Given the description of an element on the screen output the (x, y) to click on. 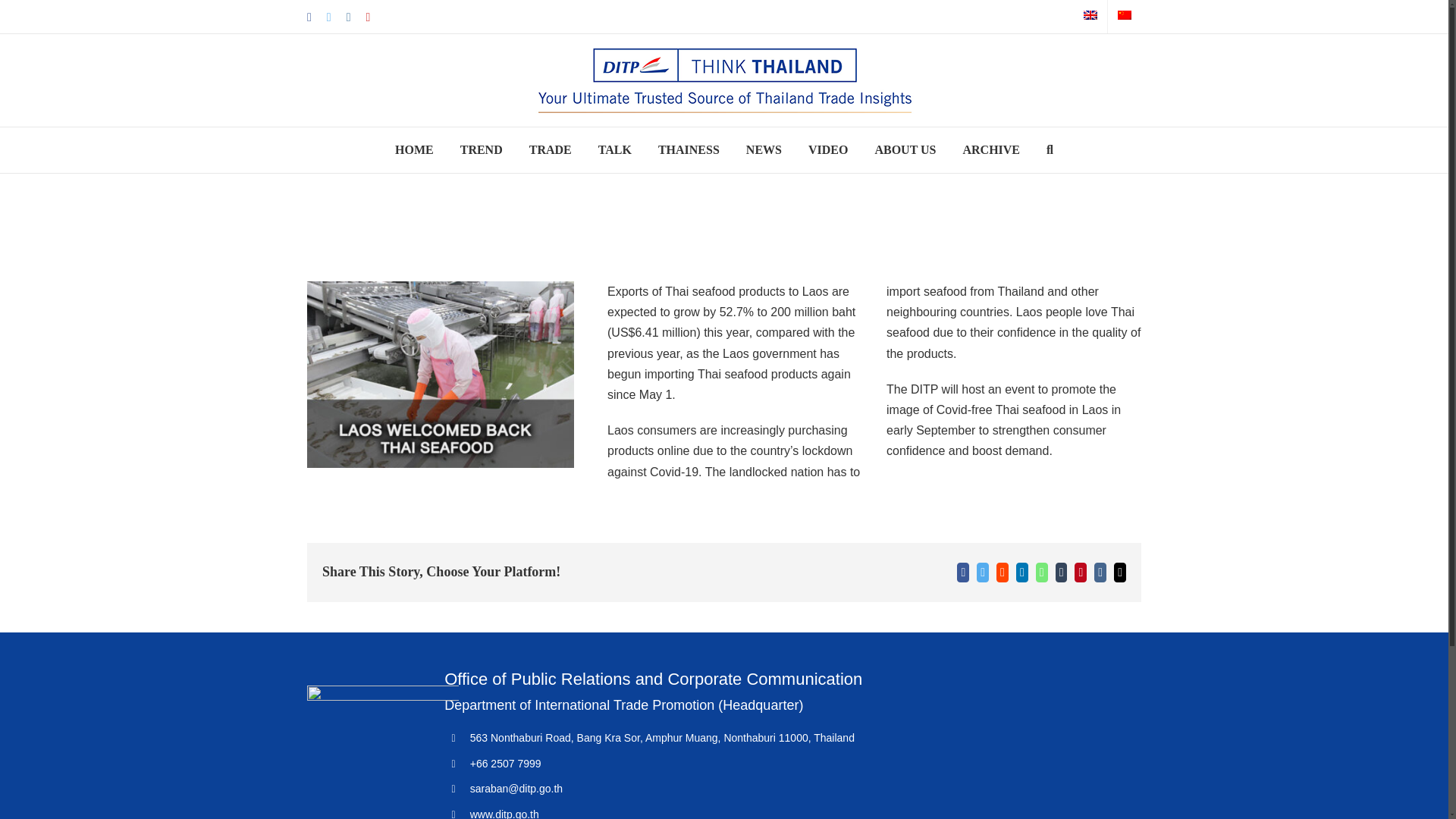
Laos Welcomed Back Thai Seafood (440, 374)
THAINESS (688, 149)
English (1090, 14)
TRADE (550, 149)
ARCHIVE (991, 149)
ABOUT US (905, 149)
TREND (481, 149)
www.ditp.go.th (504, 813)
